Given the description of an element on the screen output the (x, y) to click on. 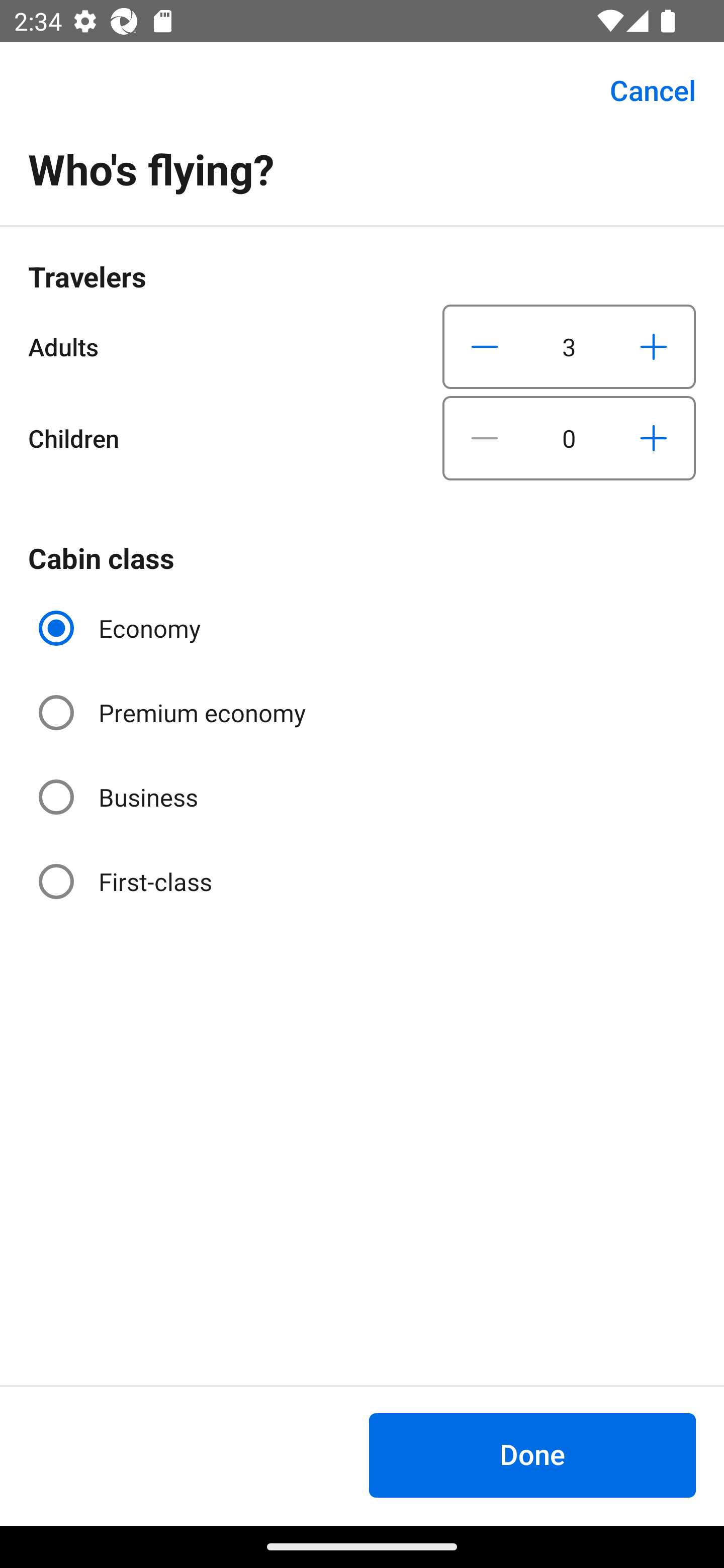
Cancel (641, 90)
Decrease (484, 346)
Increase (653, 346)
Decrease (484, 437)
Increase (653, 437)
Economy (121, 628)
Premium economy (174, 712)
Business (120, 796)
First-class (126, 880)
Done (532, 1454)
